Given the description of an element on the screen output the (x, y) to click on. 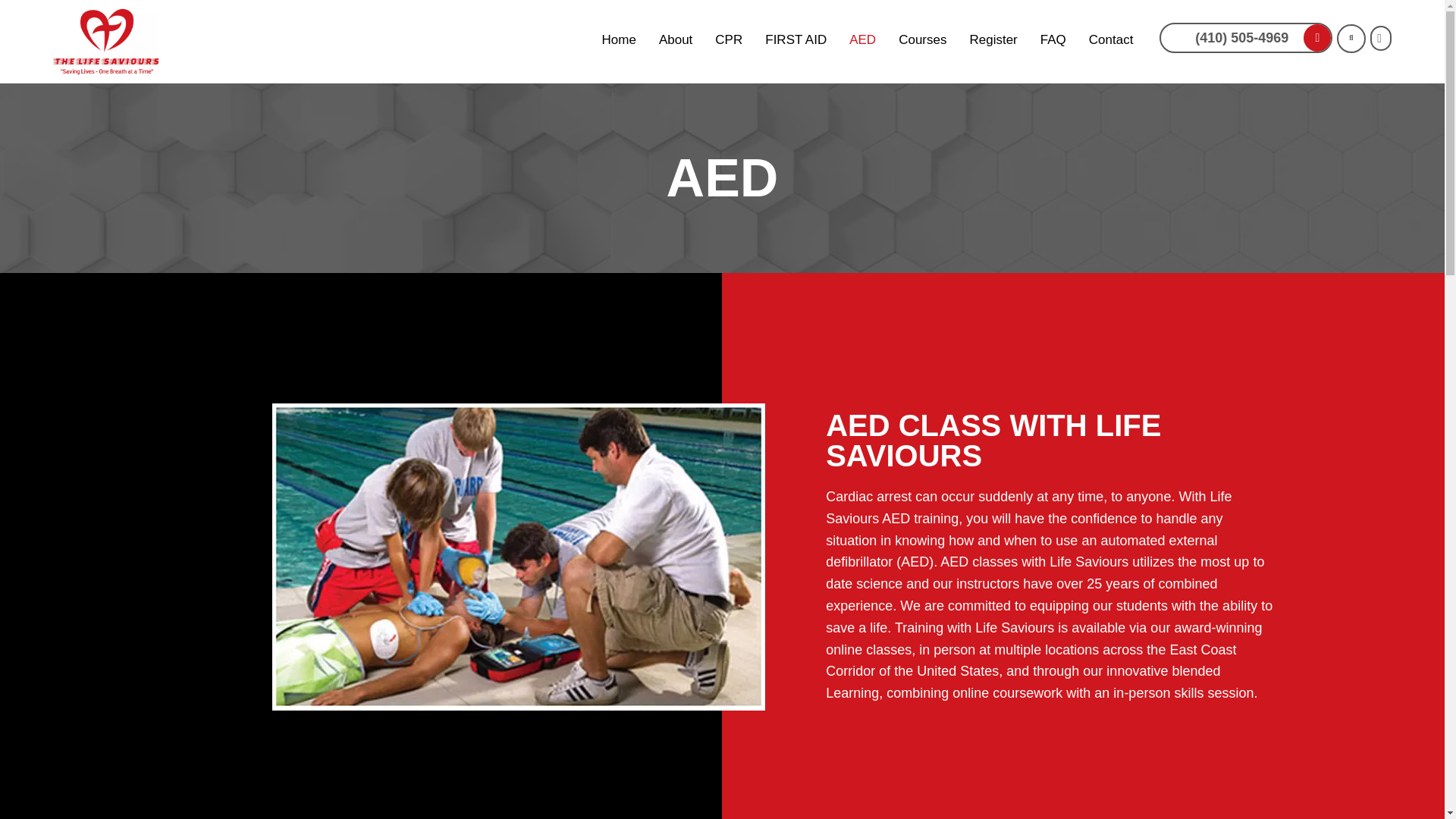
AED (862, 39)
Register (992, 39)
Home (618, 39)
FAQ (1053, 39)
Contact (1111, 39)
CPR (728, 39)
logo1 (105, 41)
FIRST AID (795, 39)
About (675, 39)
